Given the description of an element on the screen output the (x, y) to click on. 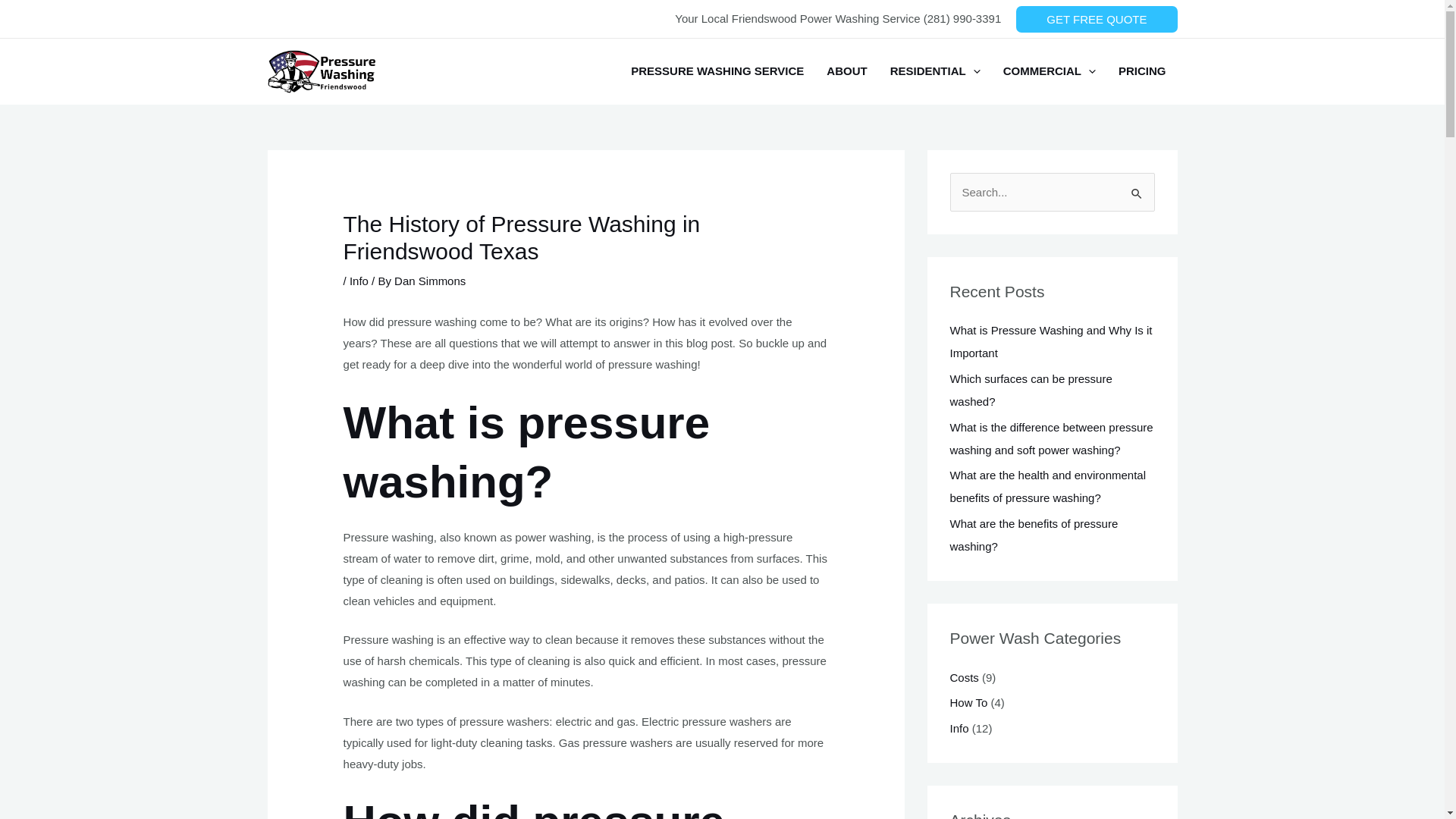
PRESSURE WASHING SERVICE (717, 71)
Search (1137, 187)
COMMERCIAL (1048, 71)
View all posts by Dan Simmons (429, 280)
Search (1137, 187)
GET FREE QUOTE (1096, 18)
ABOUT (846, 71)
RESIDENTIAL (935, 71)
PRICING (1141, 71)
